Given the description of an element on the screen output the (x, y) to click on. 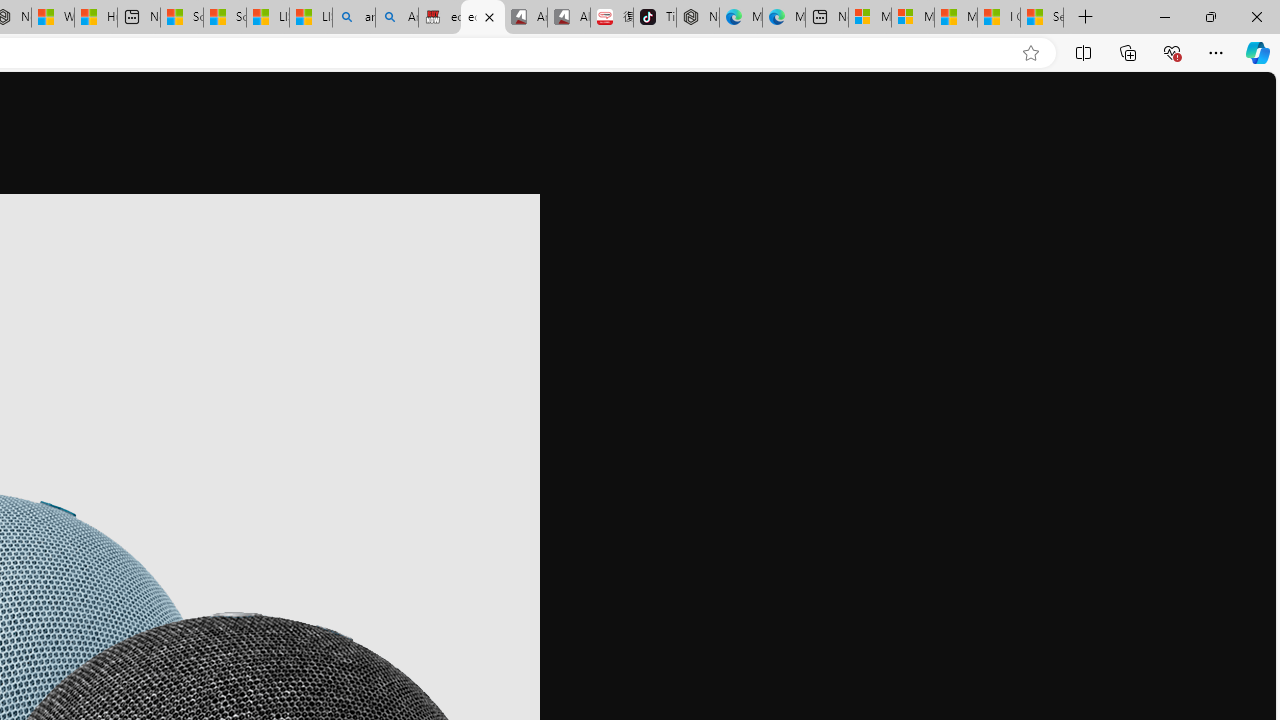
Microsoft account | Privacy (913, 17)
Amazon Echo Dot PNG - Search Images (397, 17)
I Gained 20 Pounds of Muscle in 30 Days! | Watch (998, 17)
Huge shark washes ashore at New York City beach | Watch (95, 17)
Nordace - Best Sellers (698, 17)
